Given the description of an element on the screen output the (x, y) to click on. 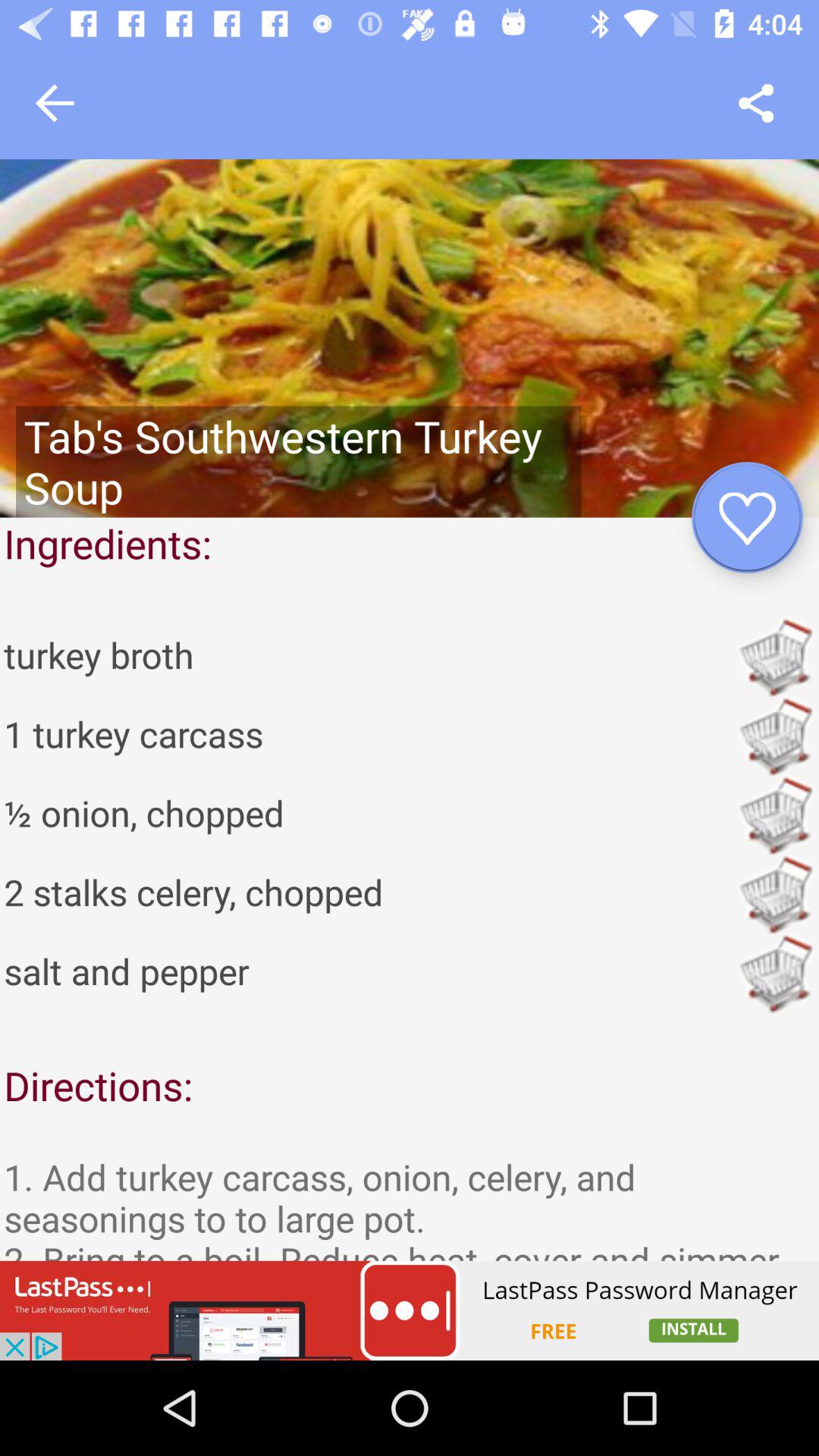
share option (756, 103)
